Given the description of an element on the screen output the (x, y) to click on. 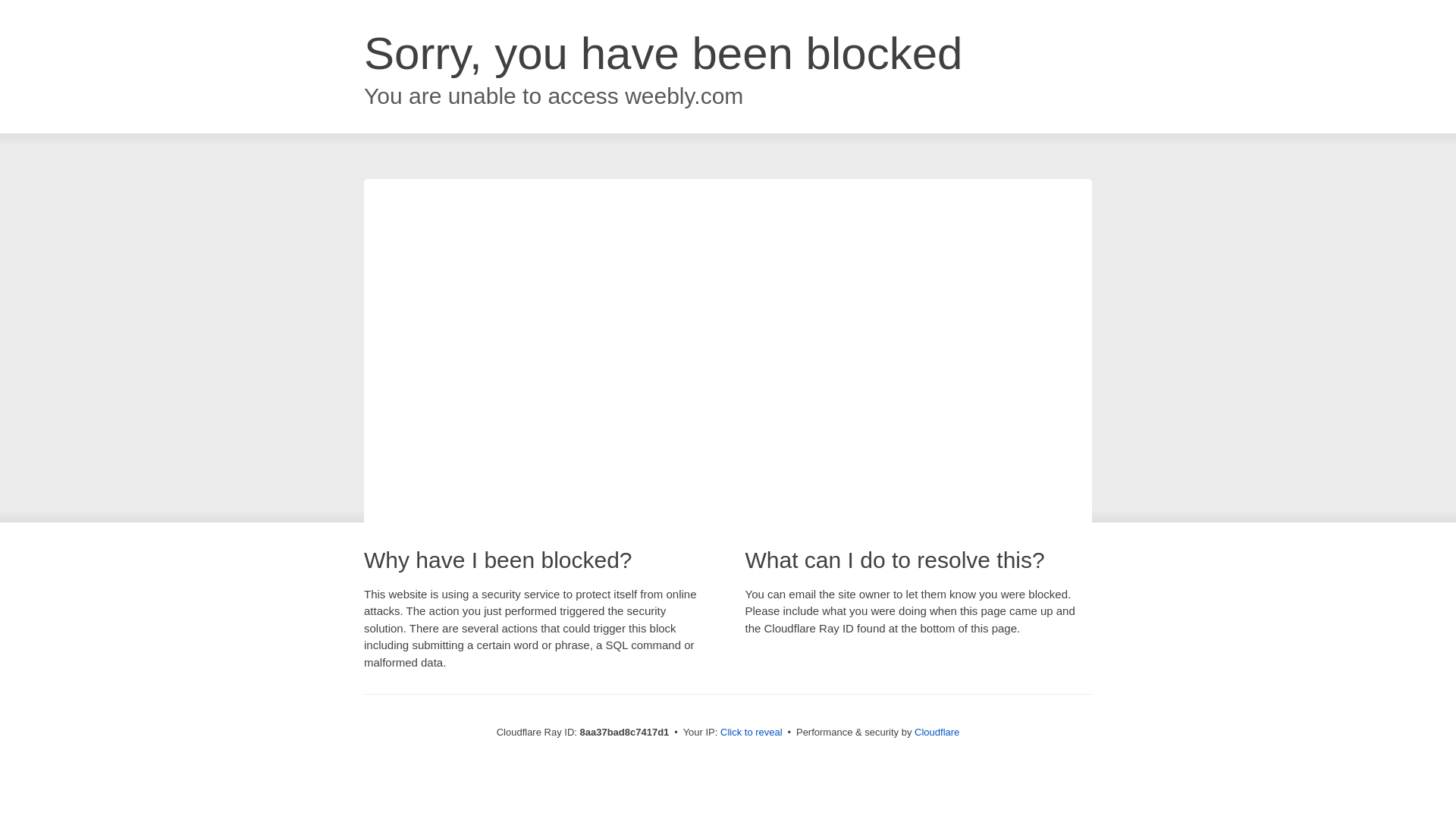
Click to reveal (751, 732)
Cloudflare (936, 731)
